Given the description of an element on the screen output the (x, y) to click on. 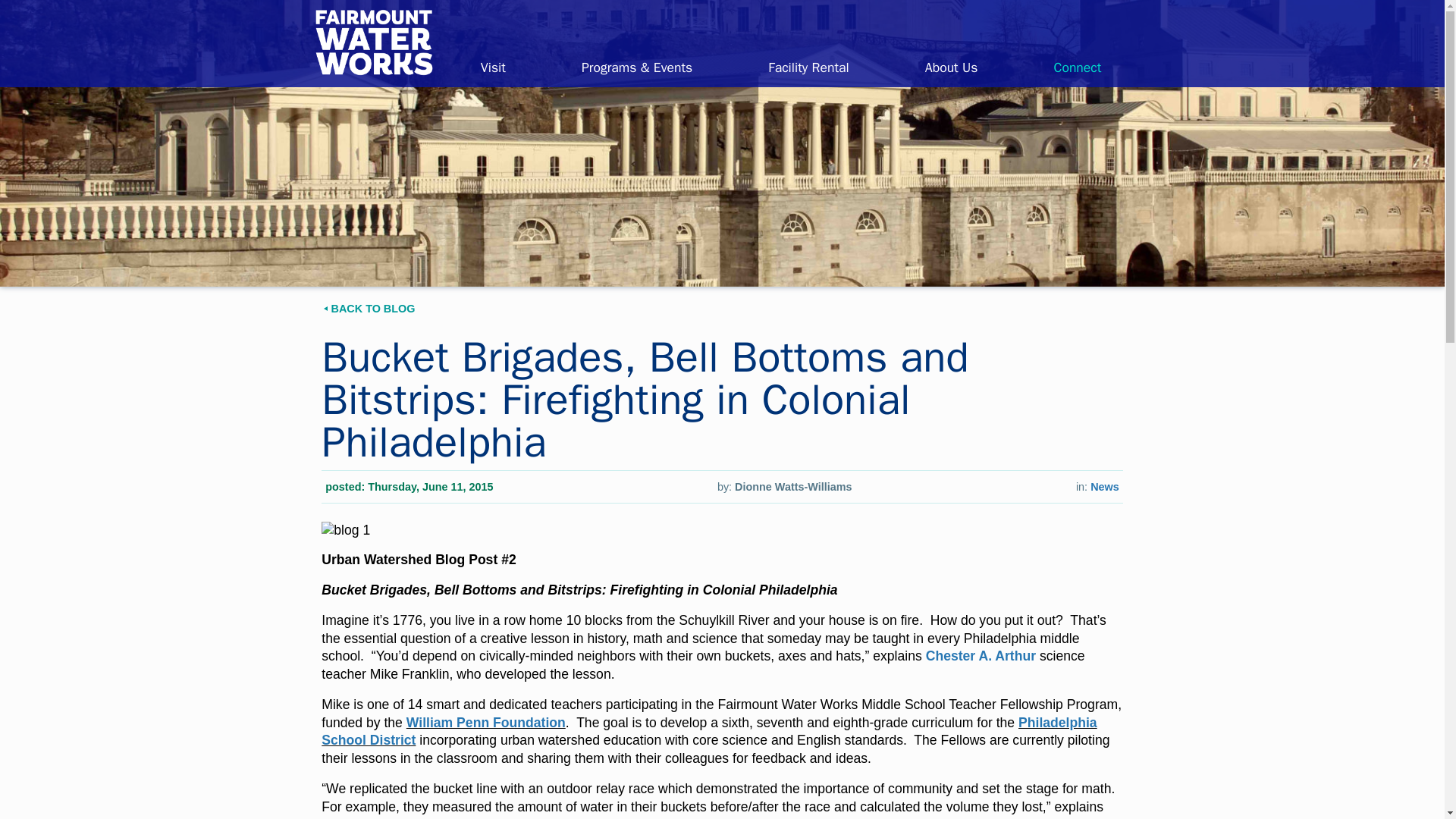
About Us (952, 67)
Visit (492, 67)
Connect (1077, 67)
Facility Rental (808, 67)
